Given the description of an element on the screen output the (x, y) to click on. 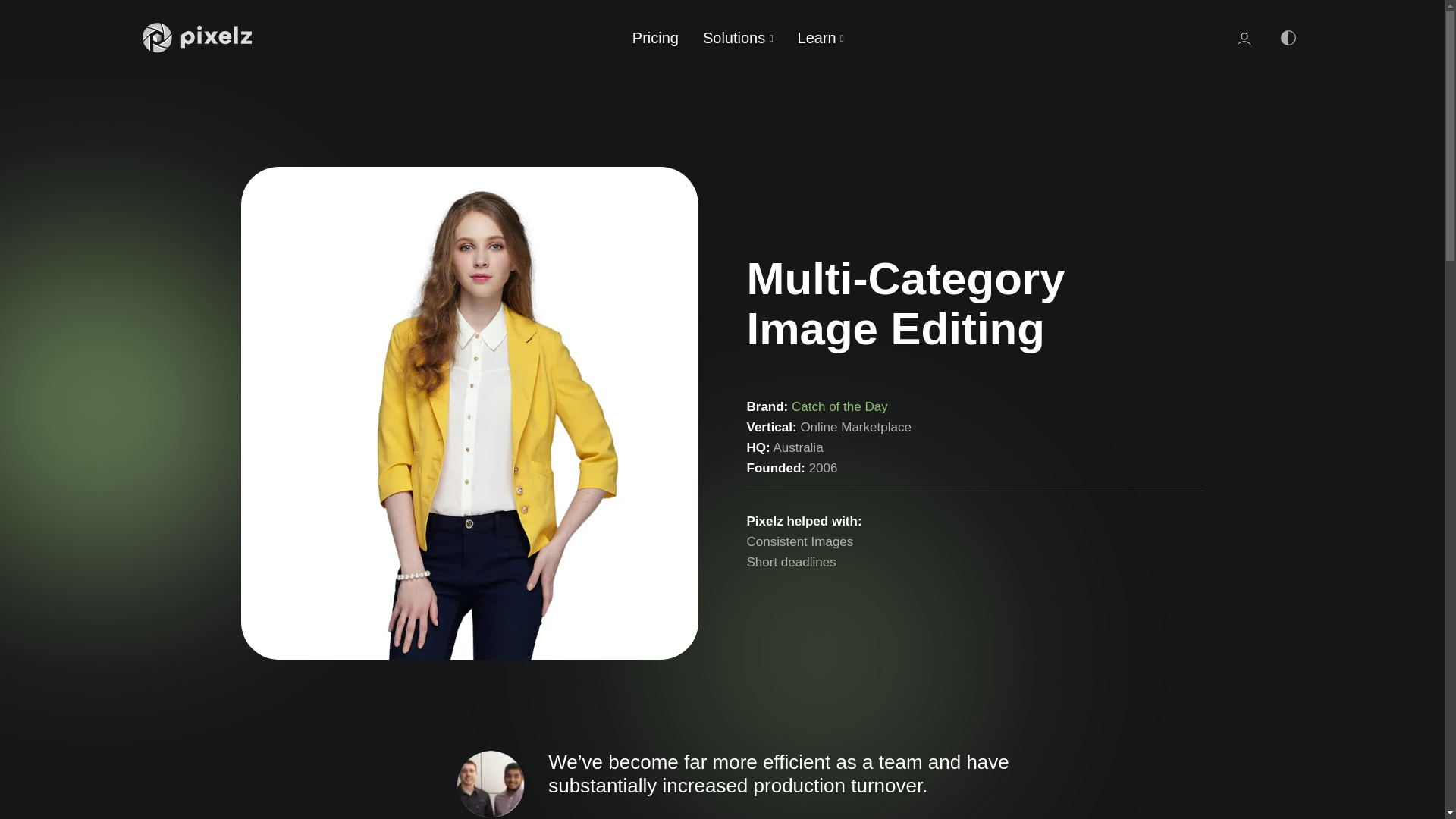
Login (1243, 37)
Pricing (655, 37)
Learn (821, 37)
Catch of the Day (840, 406)
Link to Pixelz homepage (196, 38)
Solutions (738, 37)
